Given the description of an element on the screen output the (x, y) to click on. 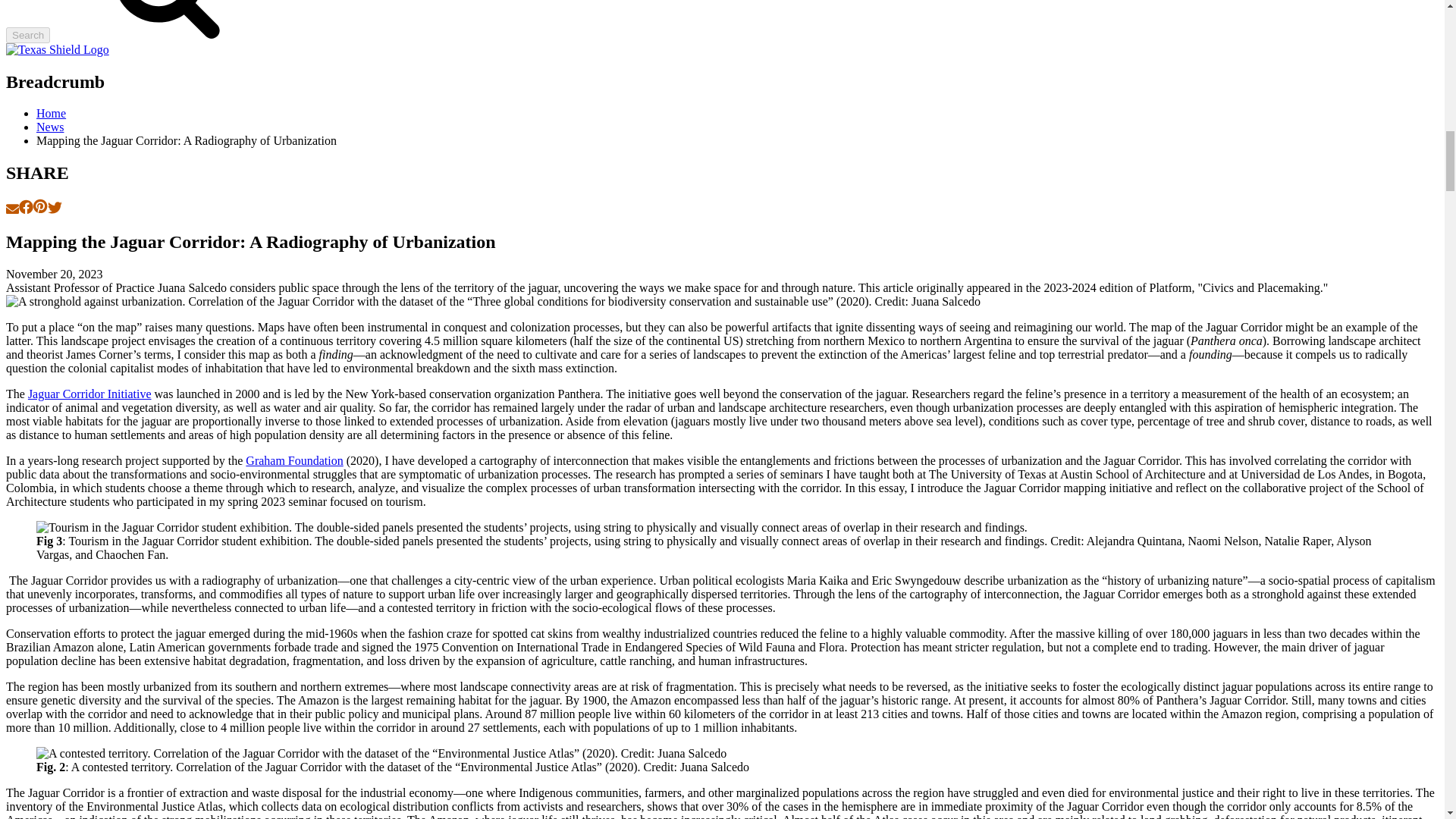
Search (27, 35)
